Given the description of an element on the screen output the (x, y) to click on. 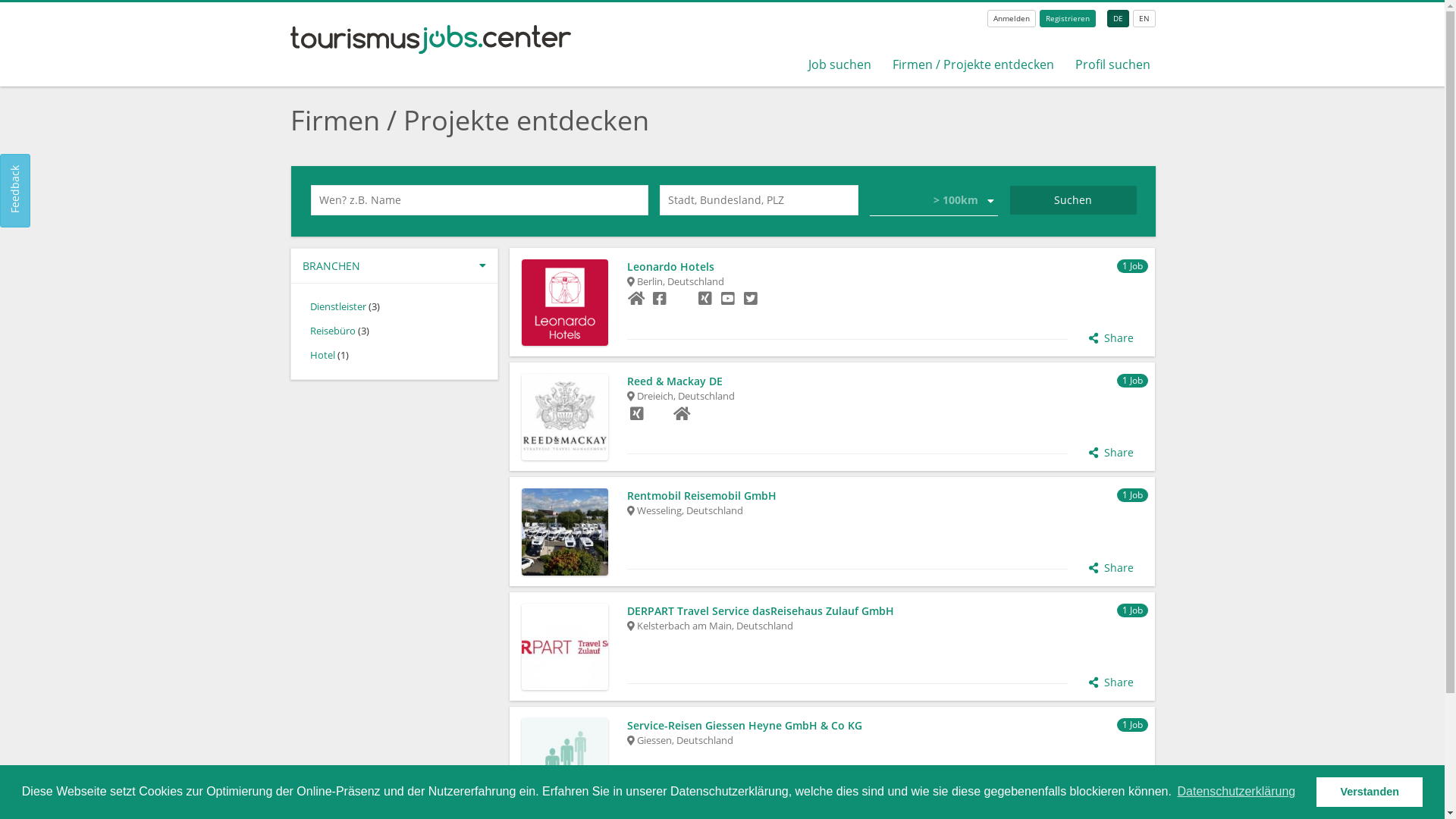
Firmen / Projekte entdecken Element type: text (972, 64)
 Share Element type: text (1111, 567)
 Share Element type: text (1111, 796)
Xing Element type: hover (636, 414)
Facebook Element type: hover (658, 299)
Xing Element type: hover (704, 299)
Registrieren Element type: text (1067, 18)
 Share Element type: text (1111, 452)
EN Element type: text (1143, 18)
BRANCHEN Element type: text (394, 265)
Service-Reisen Giessen Heyne GmbH & Co KG Element type: text (885, 725)
Verstanden Element type: text (1369, 791)
LinkedIn Element type: hover (658, 414)
Leonardo Hotels Element type: text (885, 266)
Rentmobil Reisemobil GmbH Element type: text (885, 495)
Homepage Element type: hover (681, 414)
Job suchen Element type: text (839, 64)
 Share Element type: text (1111, 337)
Profil suchen Element type: text (1112, 64)
Suchen Element type: text (1073, 200)
LinkedIn Element type: hover (681, 299)
 Share Element type: text (1111, 682)
Reed & Mackay DE Element type: text (885, 381)
Homepage Element type: hover (636, 299)
Feedback Element type: text (36, 168)
DE Element type: text (1118, 18)
Anmelden Element type: text (1011, 18)
Tourismus Job Center Element type: text (430, 49)
YouTube Element type: hover (727, 299)
Twitter Element type: hover (749, 299)
DERPART Travel Service dasReisehaus Zulauf GmbH Element type: text (885, 610)
